Given the description of an element on the screen output the (x, y) to click on. 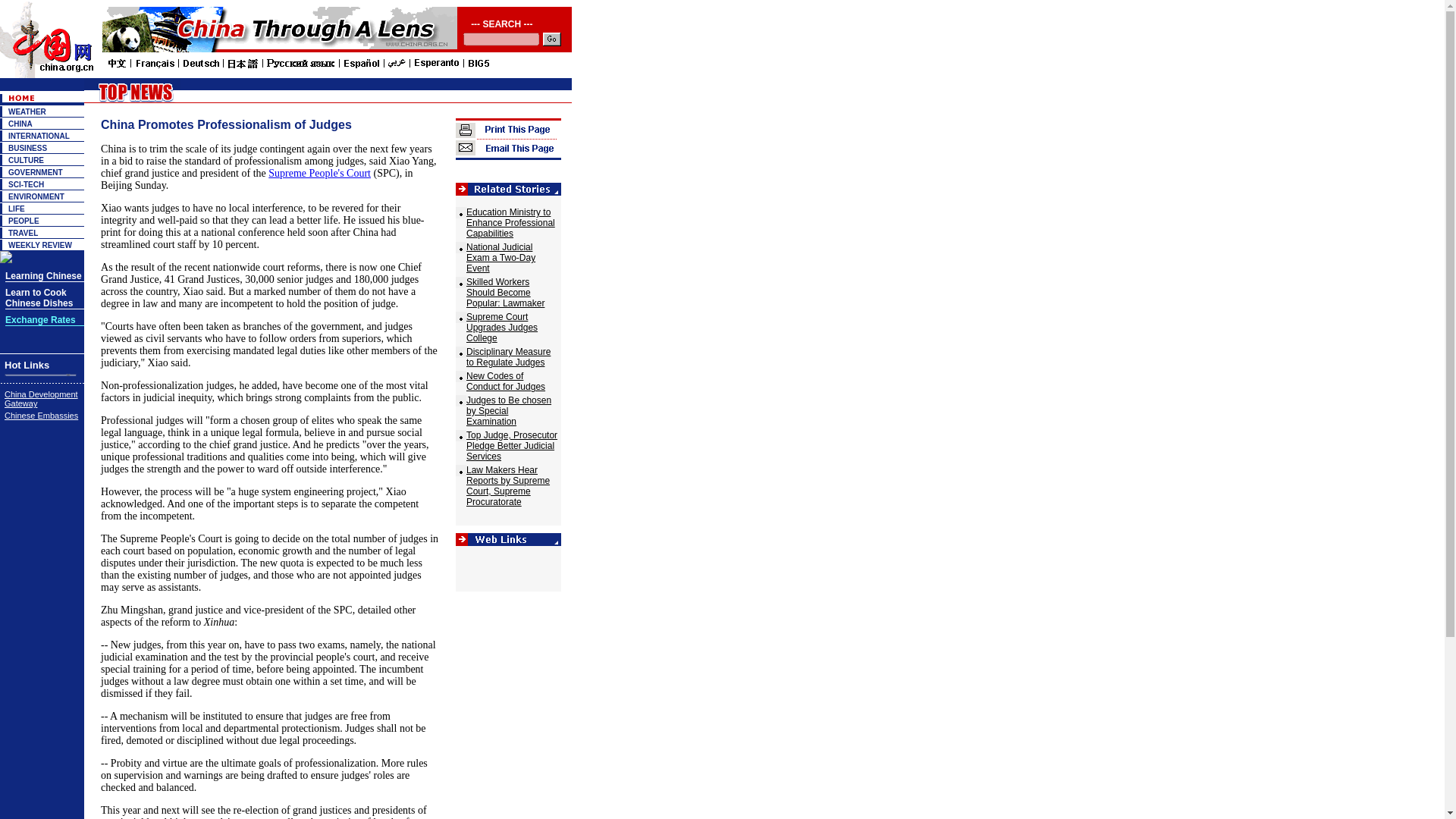
TRAVEL (22, 233)
PEOPLE (23, 221)
WEEKLY REVIEW (39, 244)
Learning Chinese (43, 275)
New Codes of Conduct for Judges (504, 381)
BUSINESS (27, 148)
Chinese Embassies (41, 415)
INTERNATIONAL (38, 135)
Skilled Workers Should Become Popular: Lawmaker (504, 292)
ENVIRONMENT (36, 196)
China Development Gateway (41, 398)
Learn to Cook Chinese Dishes (38, 298)
Top Judge, Prosecutor Pledge Better Judicial Services (511, 445)
Judges to Be chosen by Special Examination (508, 410)
Education Ministry to Enhance Professional Capabilities (509, 223)
